Given the description of an element on the screen output the (x, y) to click on. 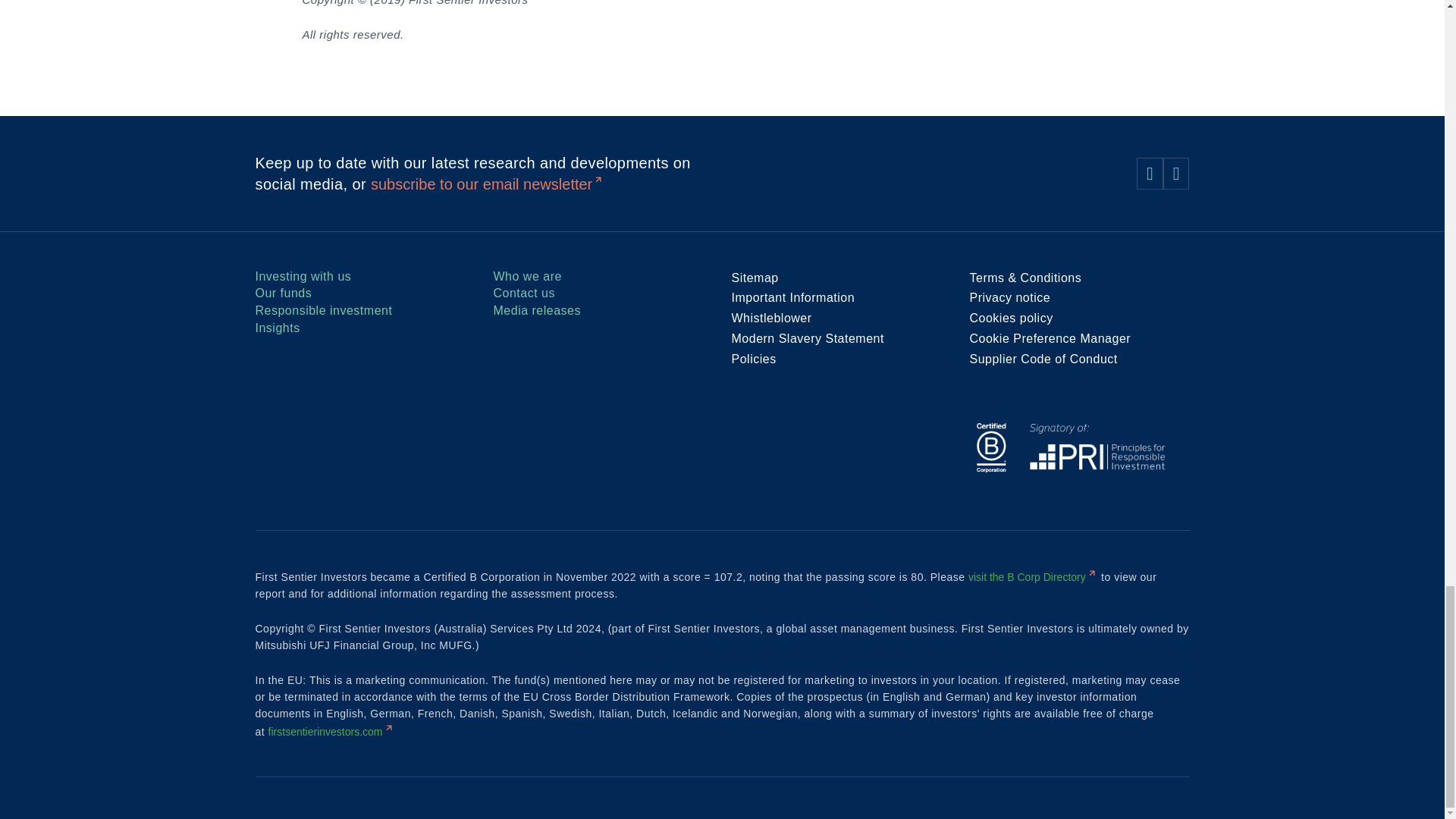
Supplier Code of Conduct (1042, 358)
